Given the description of an element on the screen output the (x, y) to click on. 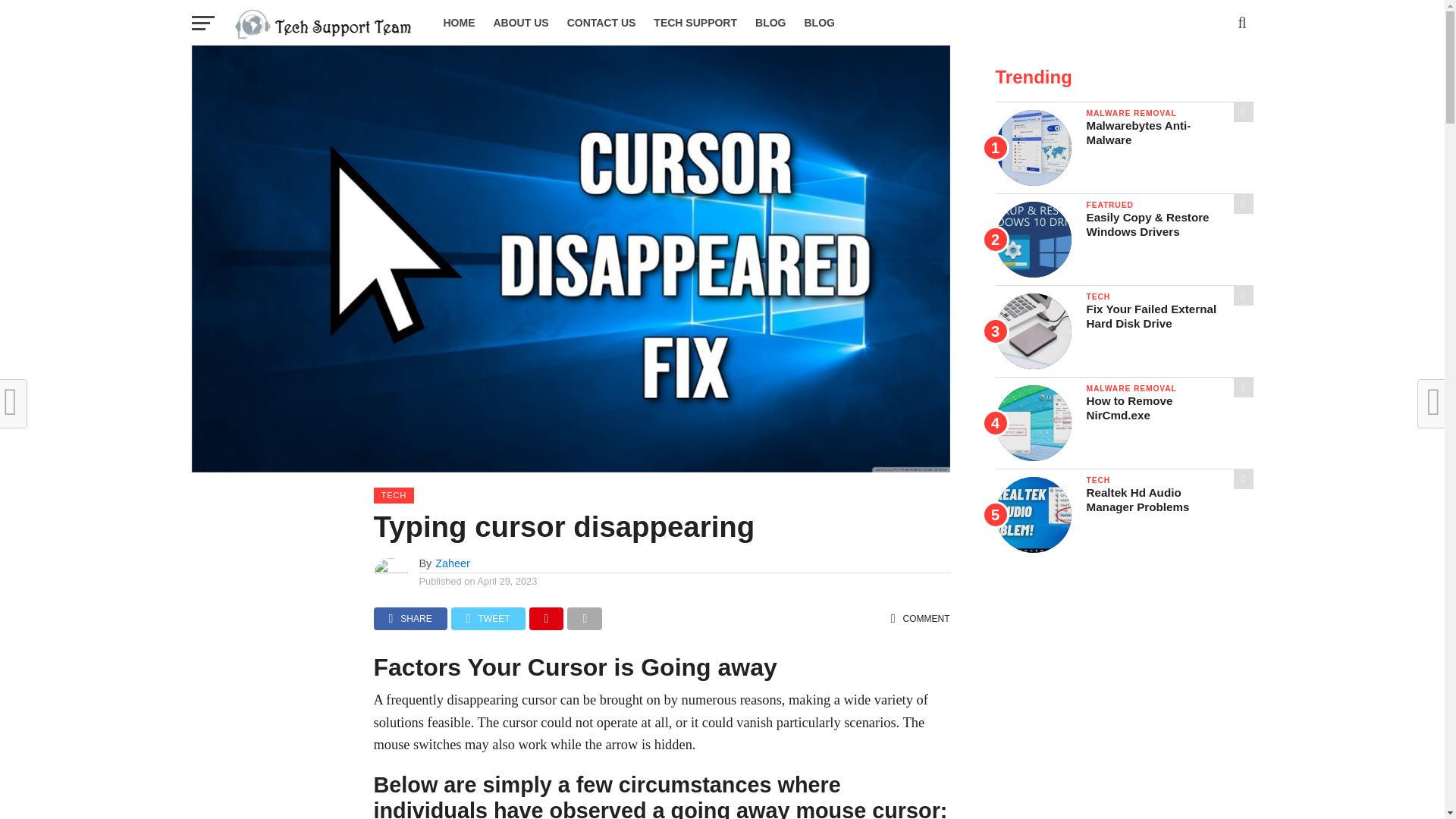
BLOG (818, 22)
Zaheer (452, 563)
ABOUT US (520, 22)
TECH SUPPORT (695, 22)
BLOG (769, 22)
CONTACT US (601, 22)
HOME (458, 22)
Posts by Zaheer (452, 563)
